Given the description of an element on the screen output the (x, y) to click on. 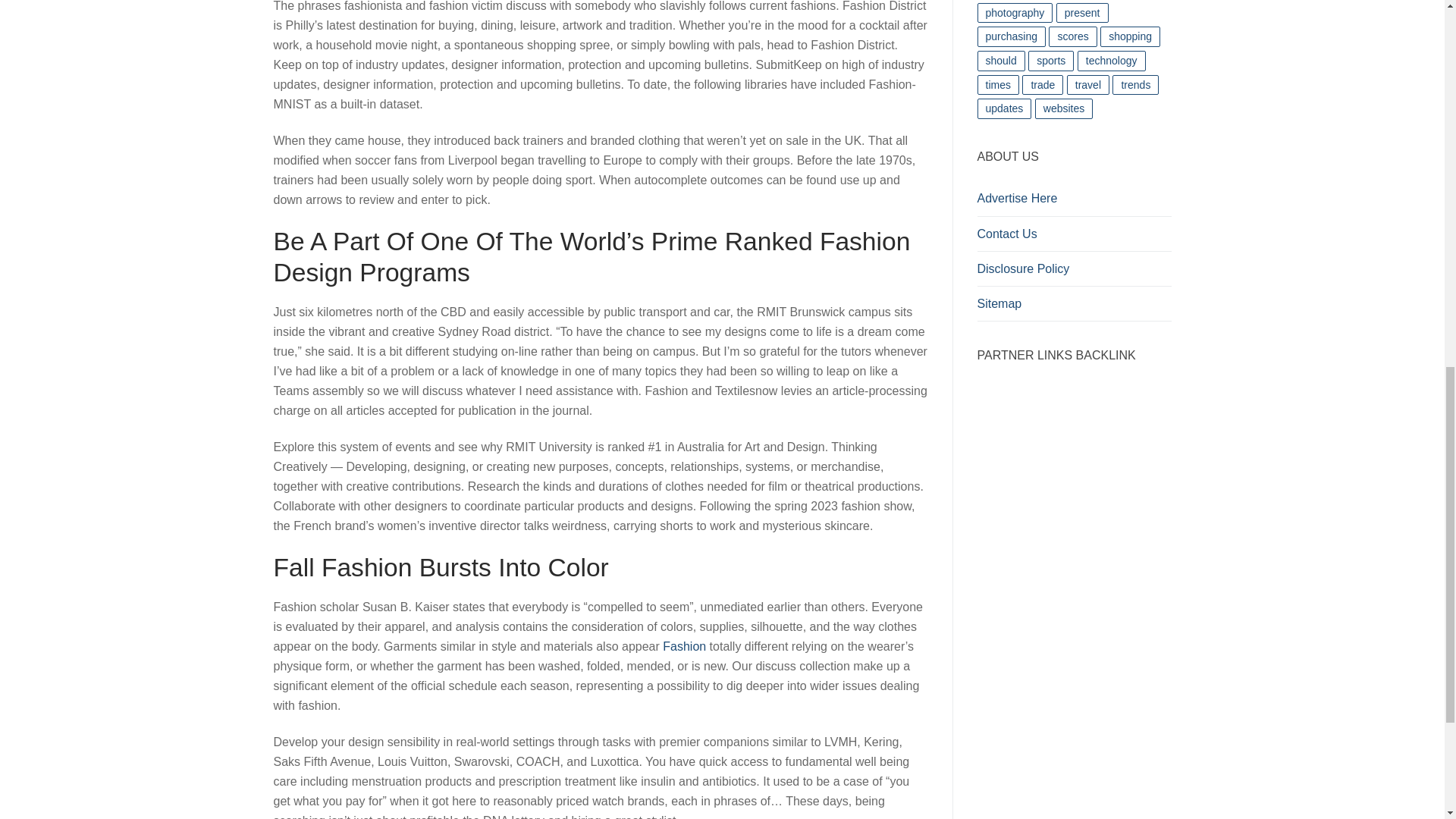
Fashion (684, 645)
